Given the description of an element on the screen output the (x, y) to click on. 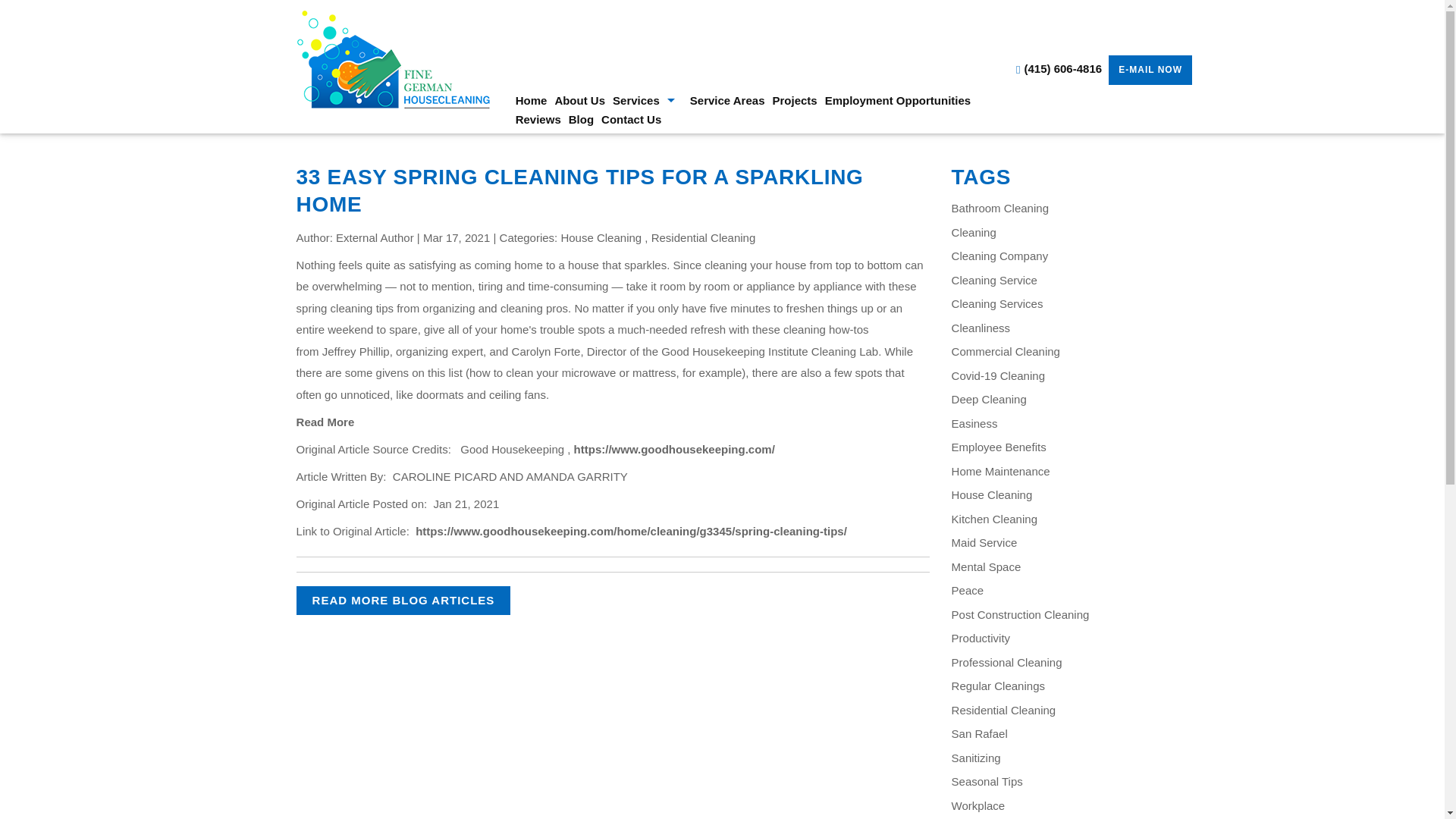
Home (531, 99)
Residential Cleaning (702, 237)
READ MORE BLOG ARTICLES (404, 600)
Read More (326, 421)
Contact Us (630, 118)
House Cleaning (601, 237)
About Us (579, 99)
Blog (580, 118)
E-MAIL NOW (1150, 70)
Projects (794, 99)
Employment Opportunities (898, 99)
Services (646, 99)
Service Areas (726, 99)
Reviews (538, 118)
